Given the description of an element on the screen output the (x, y) to click on. 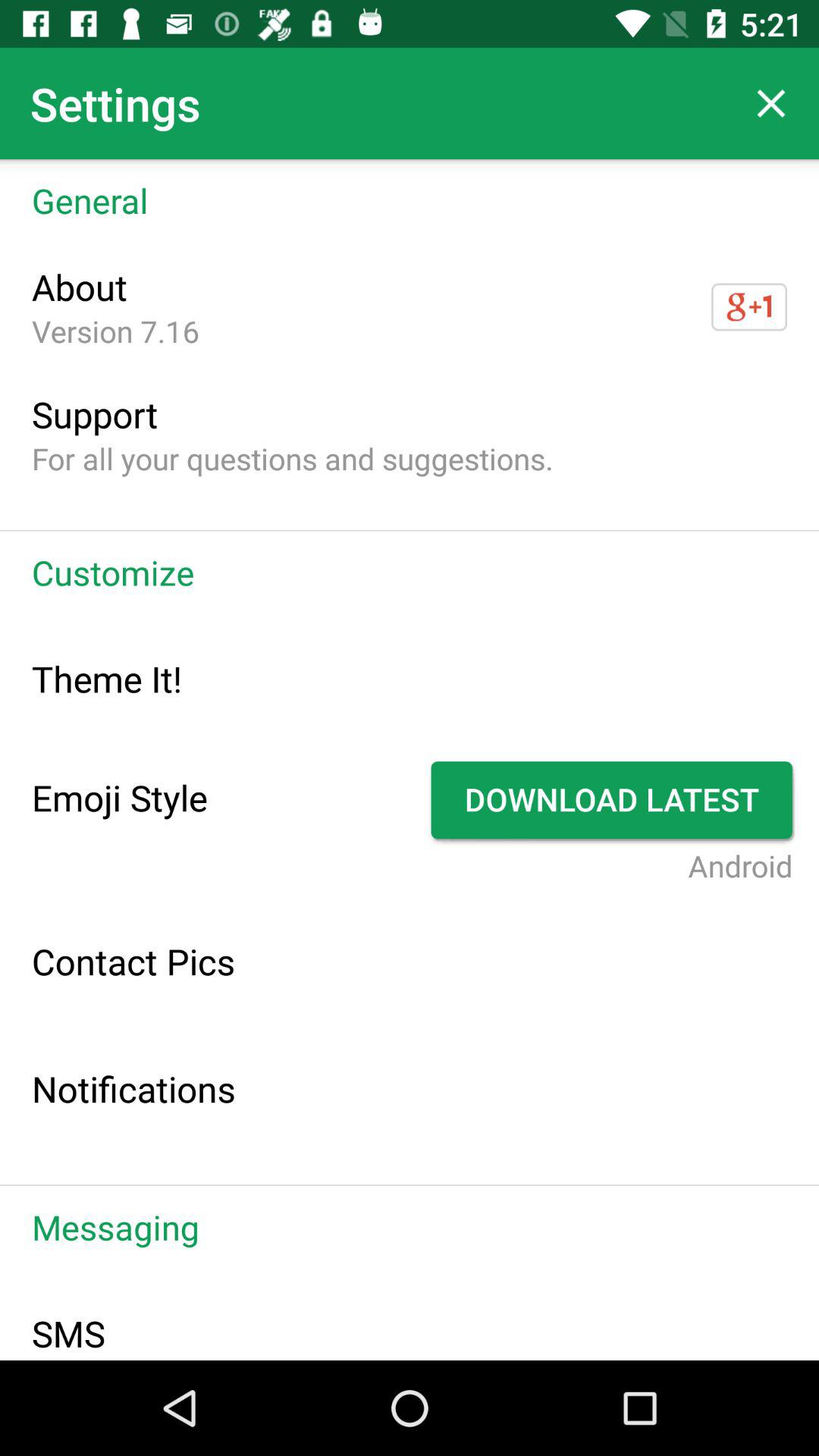
tap item above general icon (771, 103)
